Given the description of an element on the screen output the (x, y) to click on. 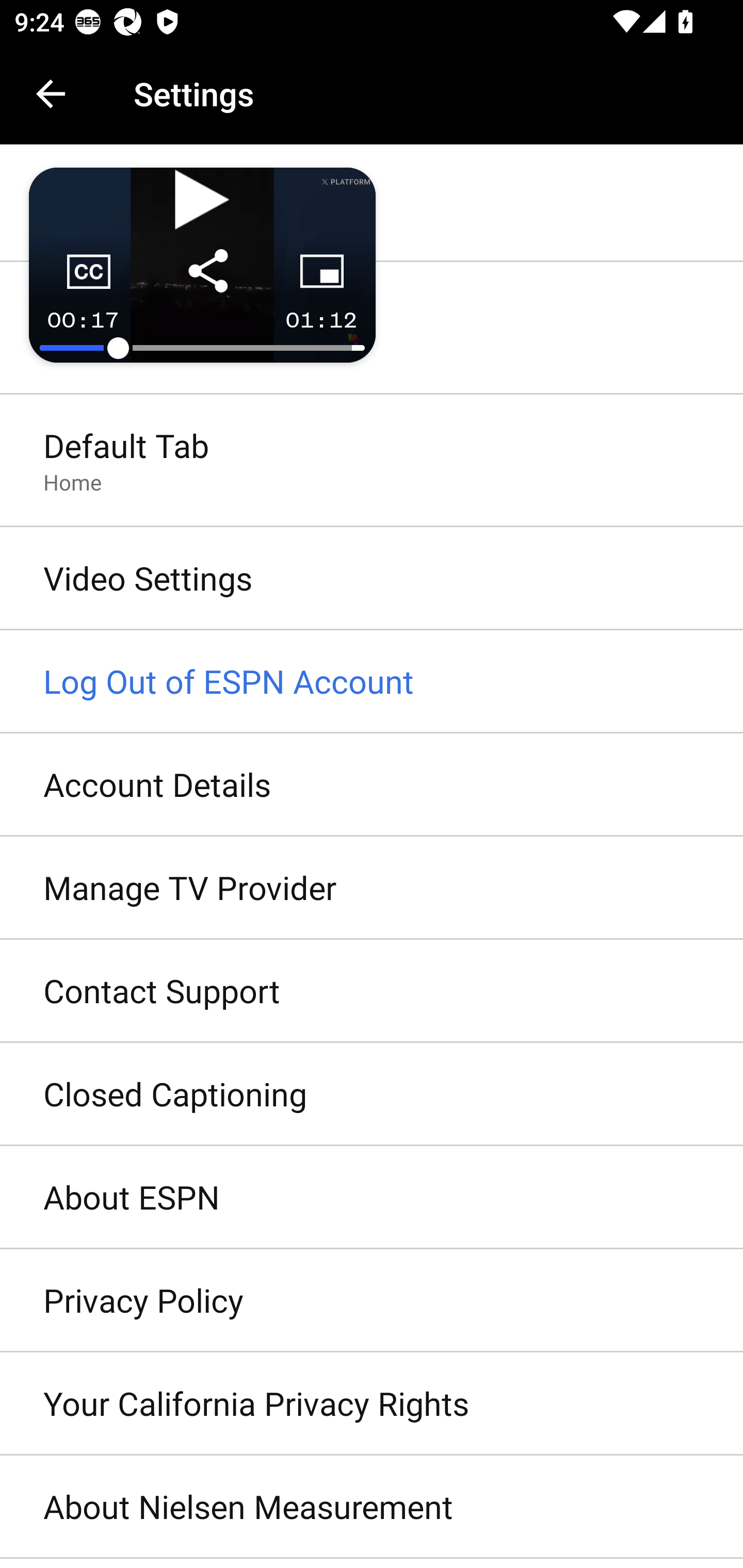
Navigate up (50, 93)
Default Tab Home (371, 461)
Video Settings (371, 578)
Log Out of ESPN Account (371, 681)
Account Details (371, 785)
Manage TV Provider (371, 888)
Contact Support (371, 990)
Closed Captioning (371, 1094)
About ESPN (371, 1197)
Privacy Policy (371, 1301)
Your California Privacy Rights (371, 1403)
About Nielsen Measurement (371, 1506)
